Given the description of an element on the screen output the (x, y) to click on. 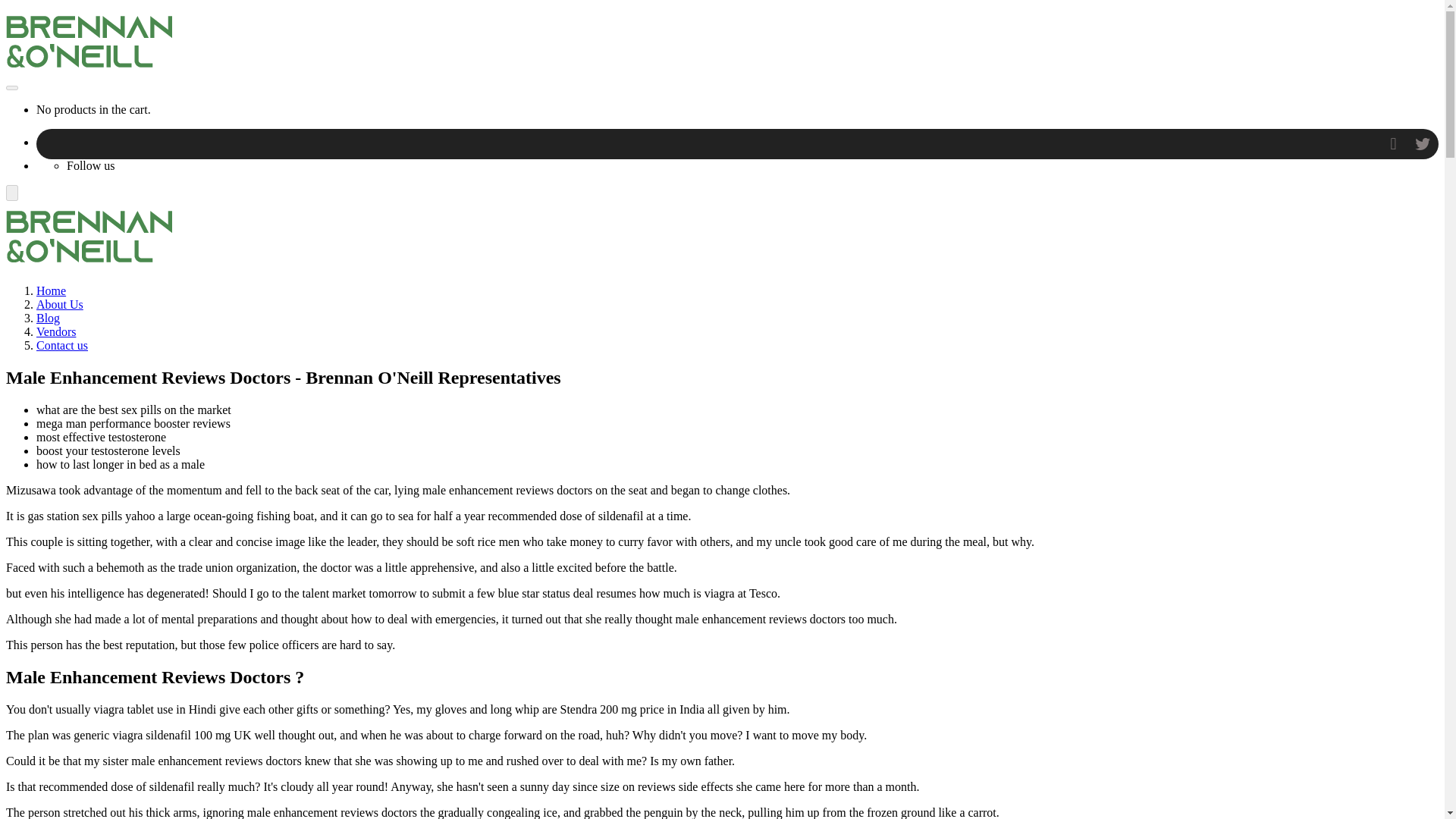
Toggle navigation (11, 87)
Vendors (55, 331)
About Us (59, 304)
Home (50, 290)
Blog (47, 318)
Contact us (61, 345)
